Given the description of an element on the screen output the (x, y) to click on. 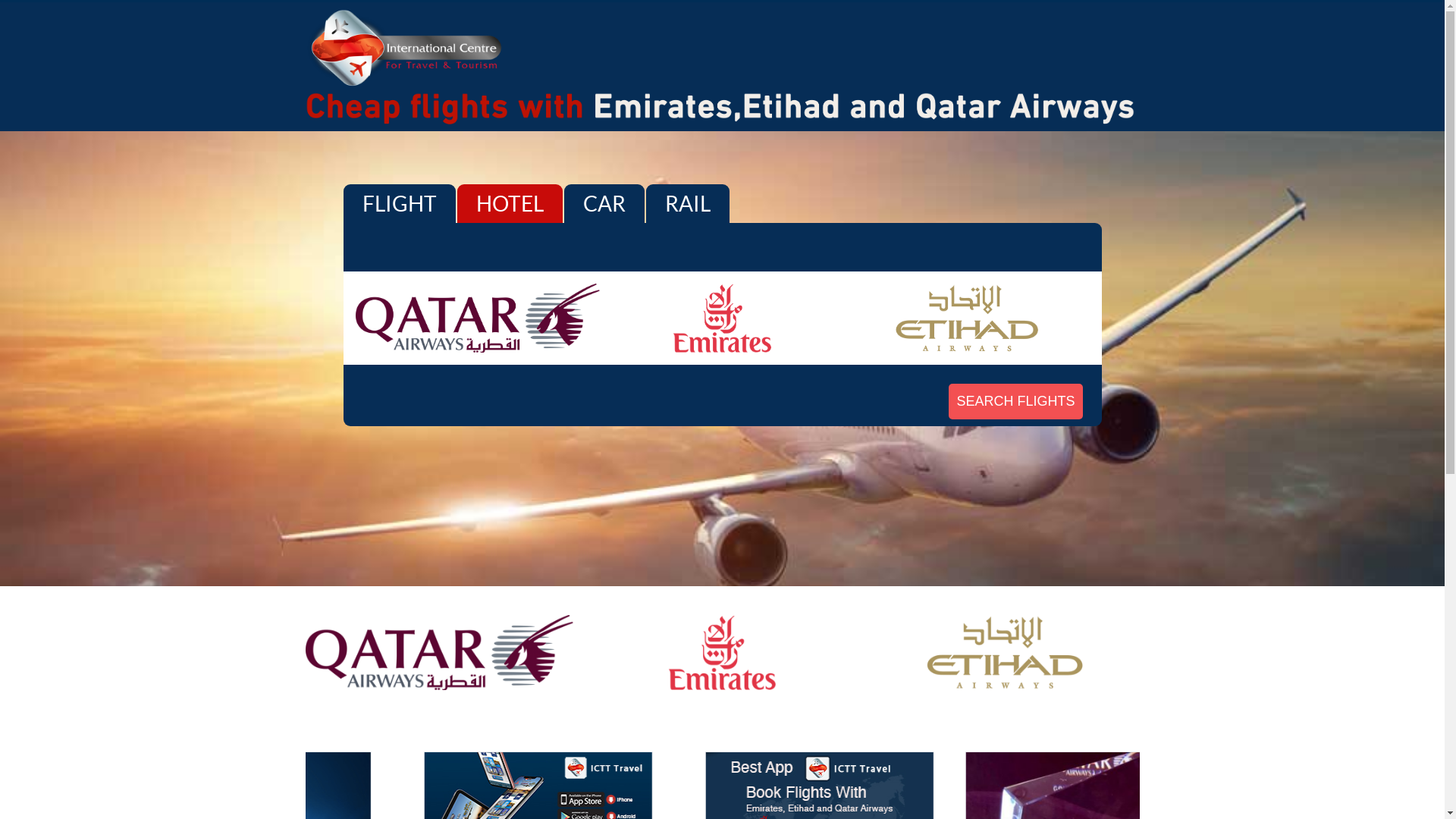
HOTEL Element type: text (509, 203)
RAIL Element type: text (686, 203)
CAR Element type: text (603, 203)
SEARCH FLIGHTS Element type: text (1015, 401)
